Given the description of an element on the screen output the (x, y) to click on. 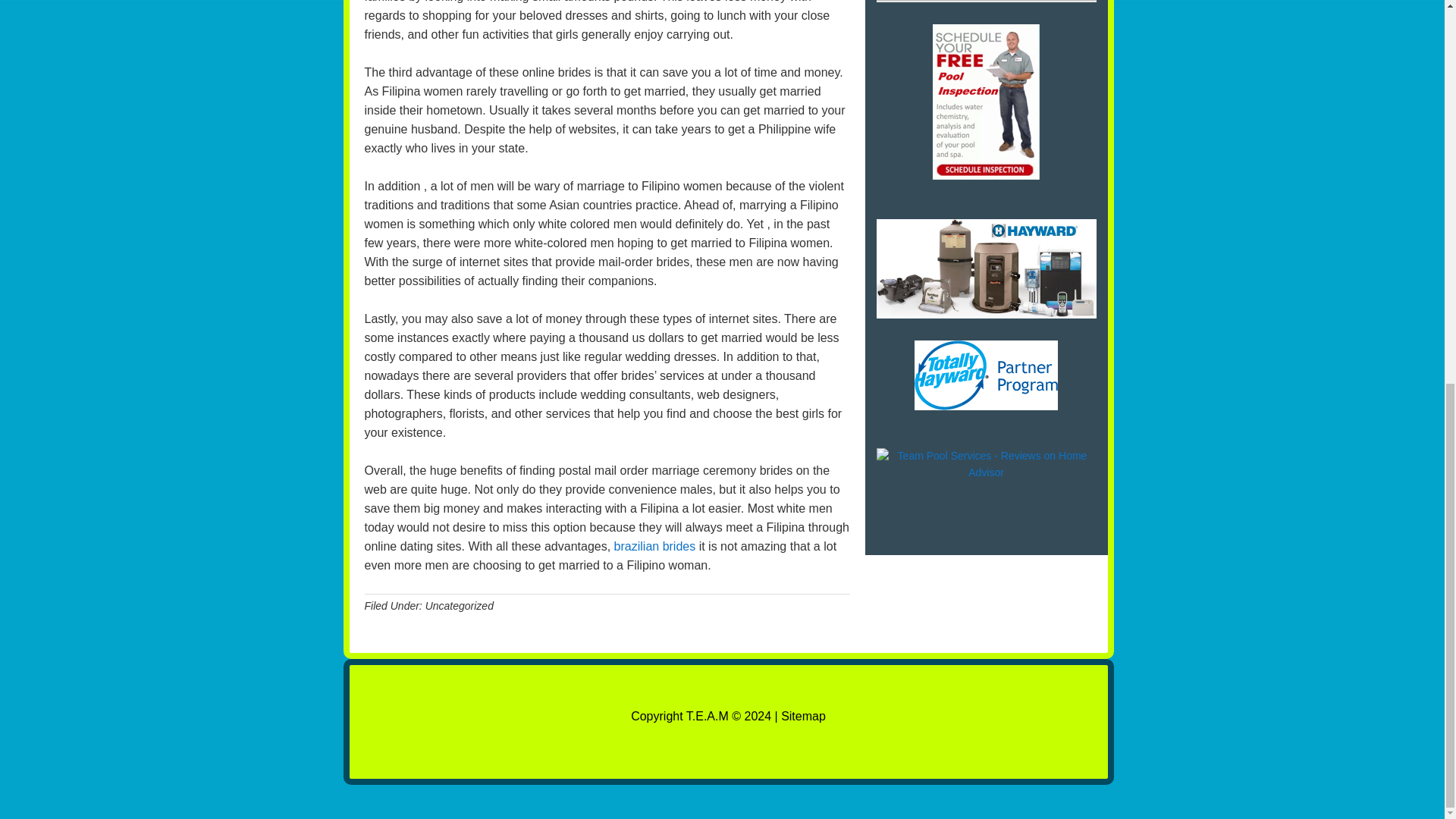
brazilian brides (654, 545)
Sitemap (802, 716)
